Given the description of an element on the screen output the (x, y) to click on. 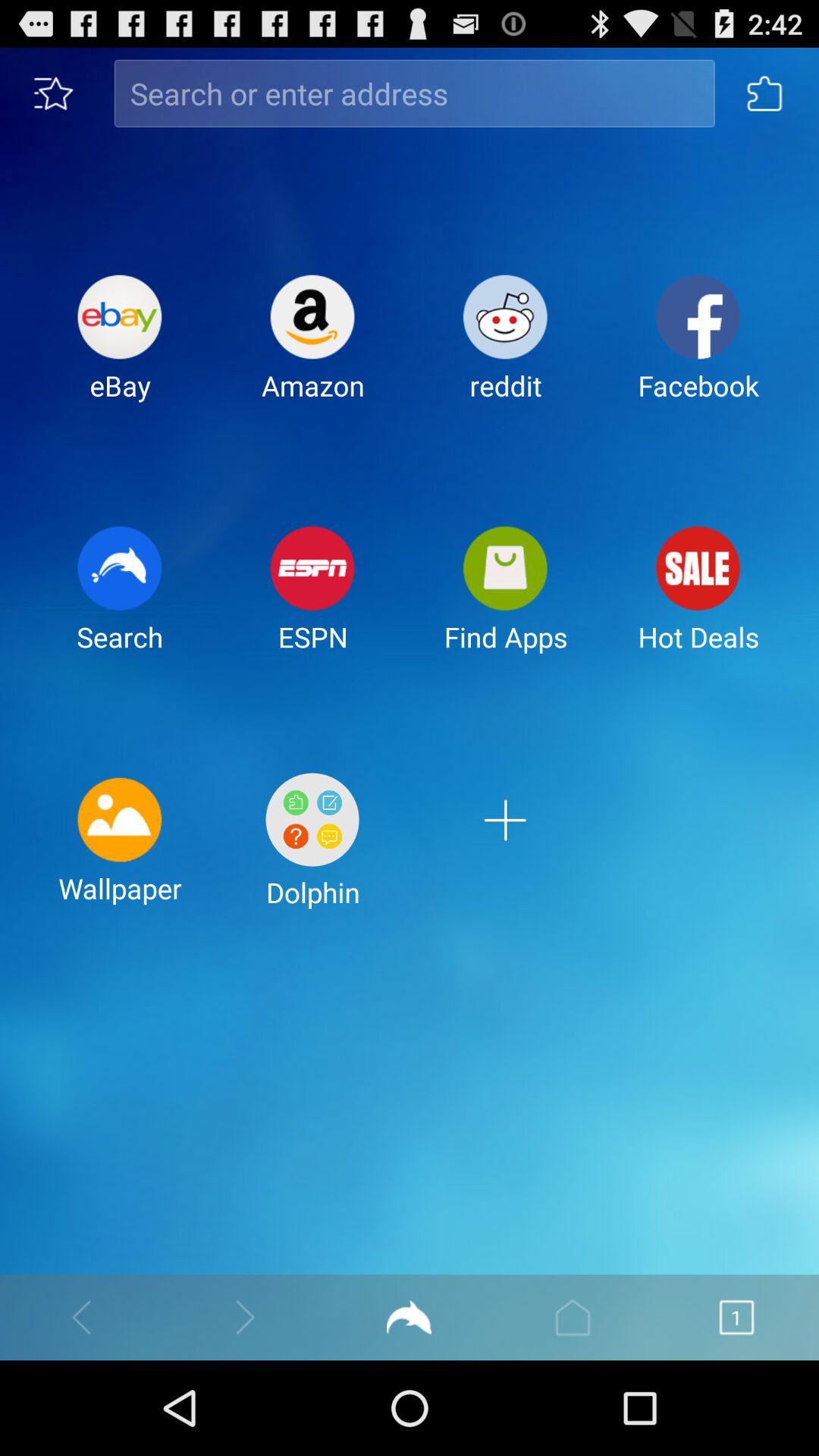
select item to the right of search item (312, 601)
